Given the description of an element on the screen output the (x, y) to click on. 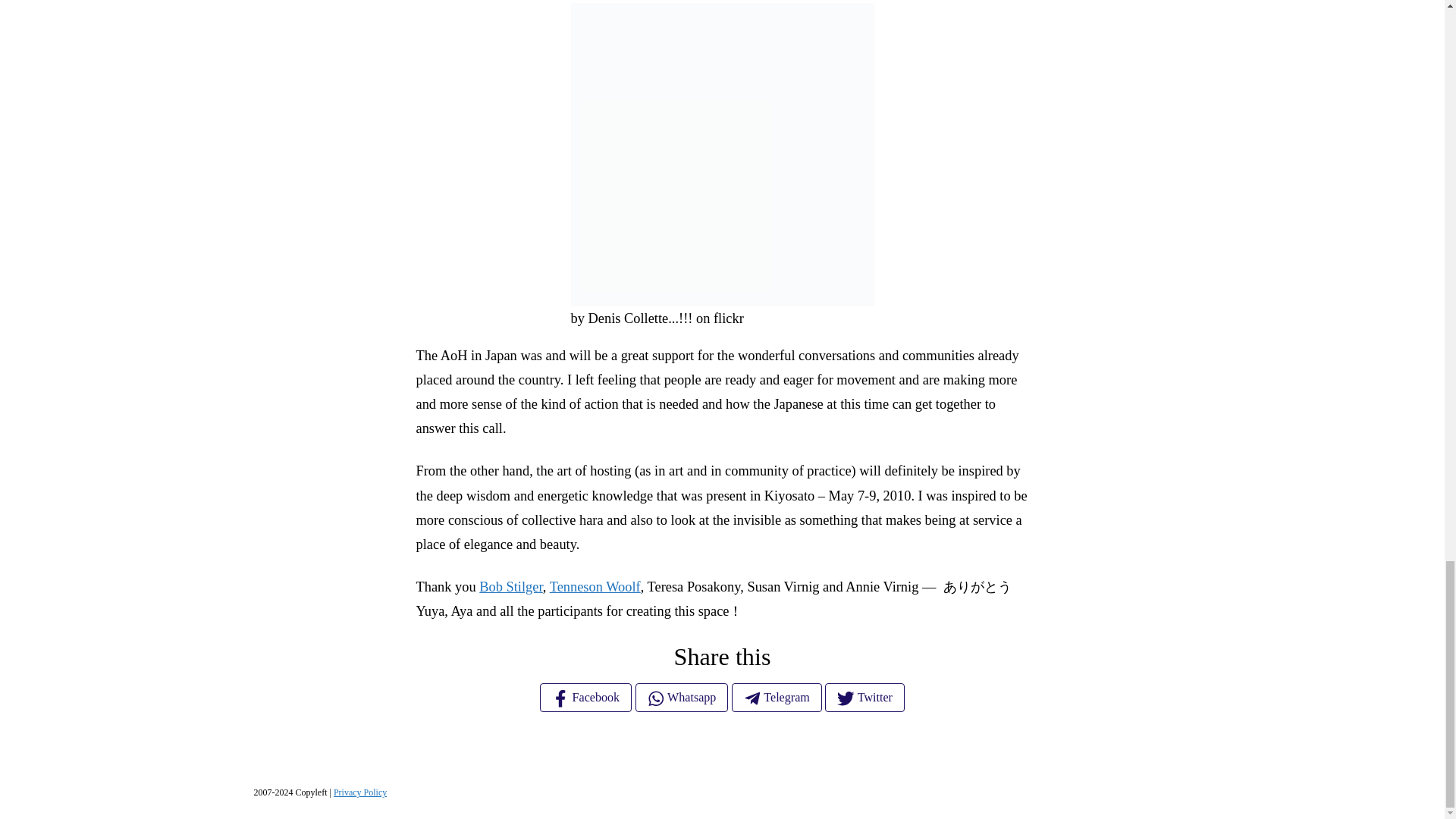
Share on Whatsapp (681, 697)
Facebook (585, 697)
Share on Twitter (864, 697)
Share on Facebook (585, 697)
Share on Telegram (777, 697)
Tenneson Woolf (595, 586)
Telegram (777, 697)
Bob Stilger (511, 586)
Privacy Policy (360, 792)
Twitter (864, 697)
Whatsapp (681, 697)
